Given the description of an element on the screen output the (x, y) to click on. 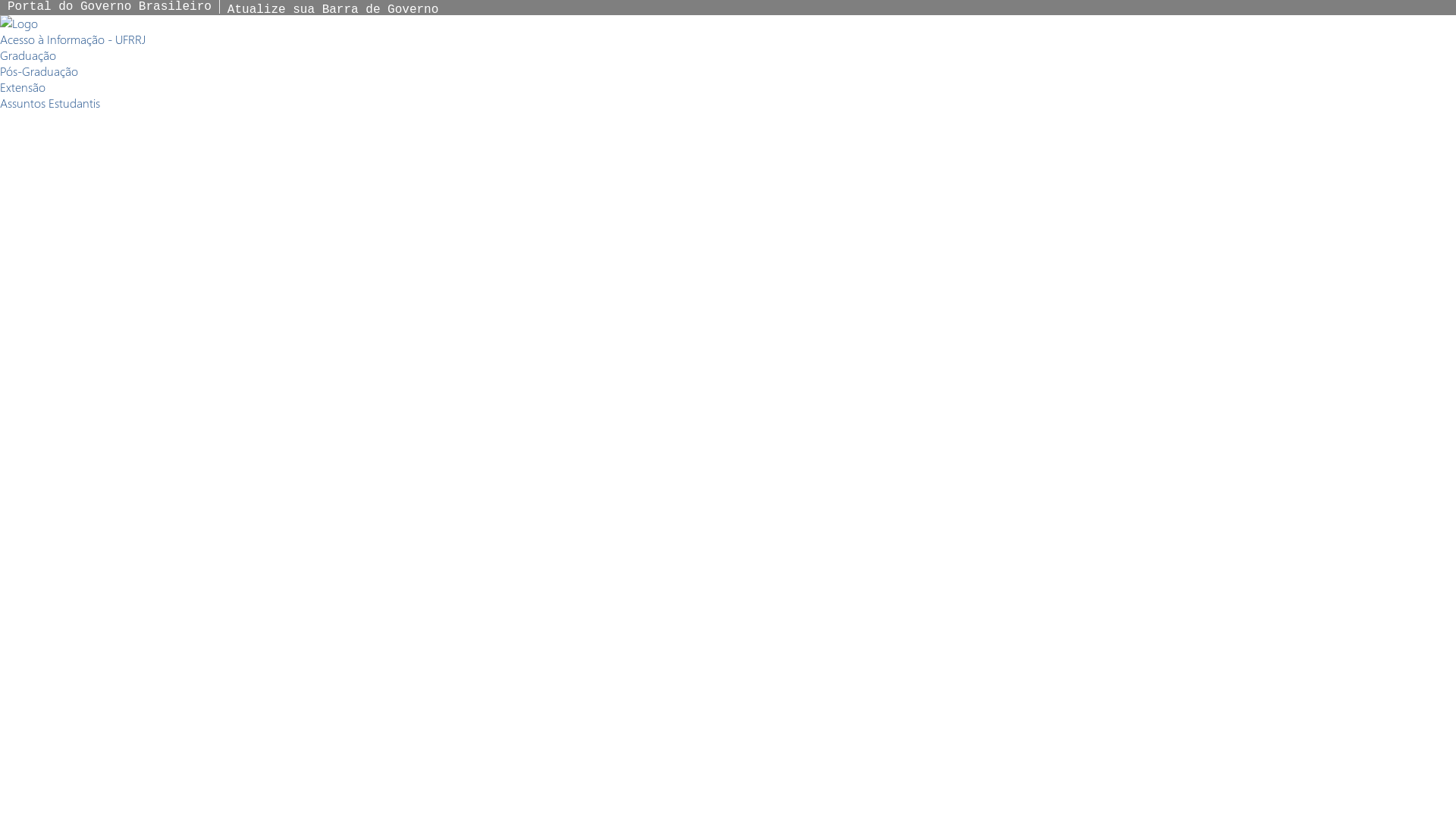
Assuntos Estudantis Element type: text (50, 102)
Portal do Governo Brasileiro Element type: text (109, 6)
Atualize sua Barra de Governo Element type: text (332, 9)
